Given the description of an element on the screen output the (x, y) to click on. 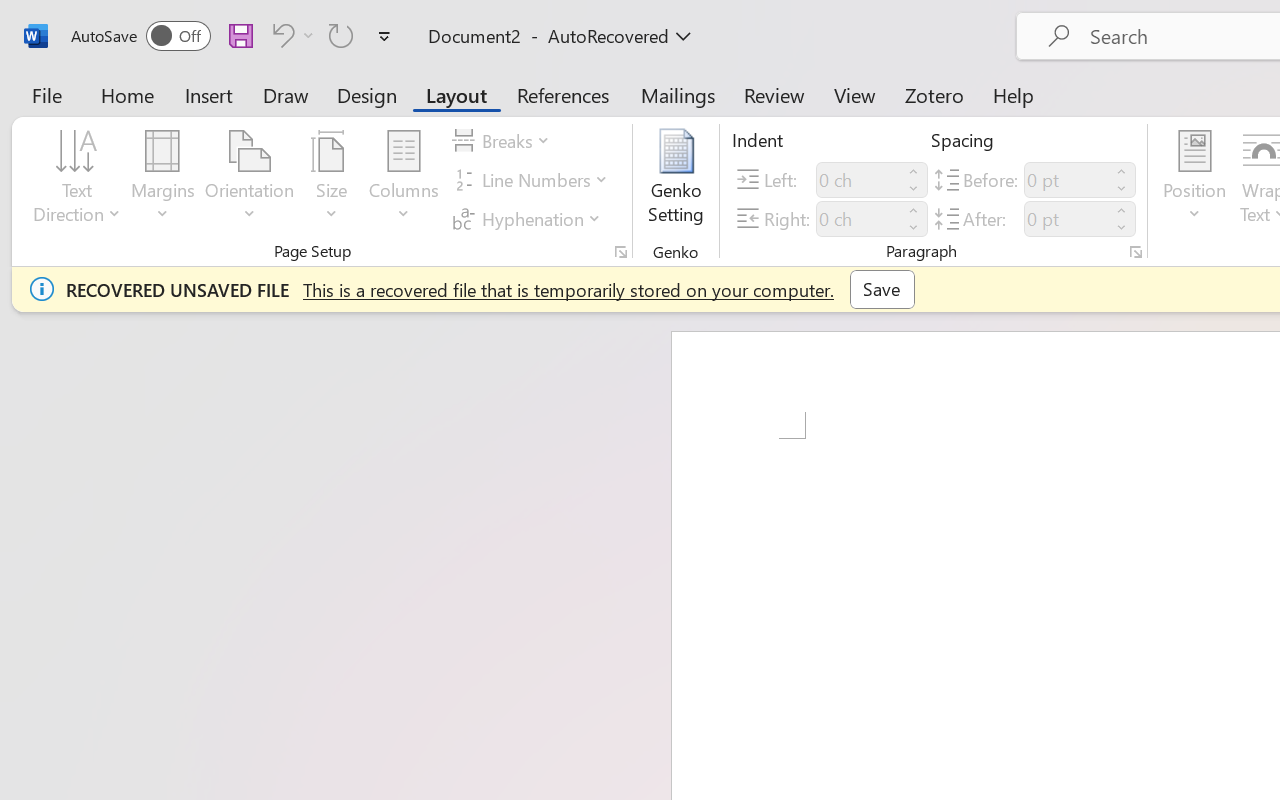
Margins (163, 179)
Indent Right (858, 218)
Can't Undo (290, 35)
Text Direction (77, 179)
Can't Repeat (341, 35)
